Given the description of an element on the screen output the (x, y) to click on. 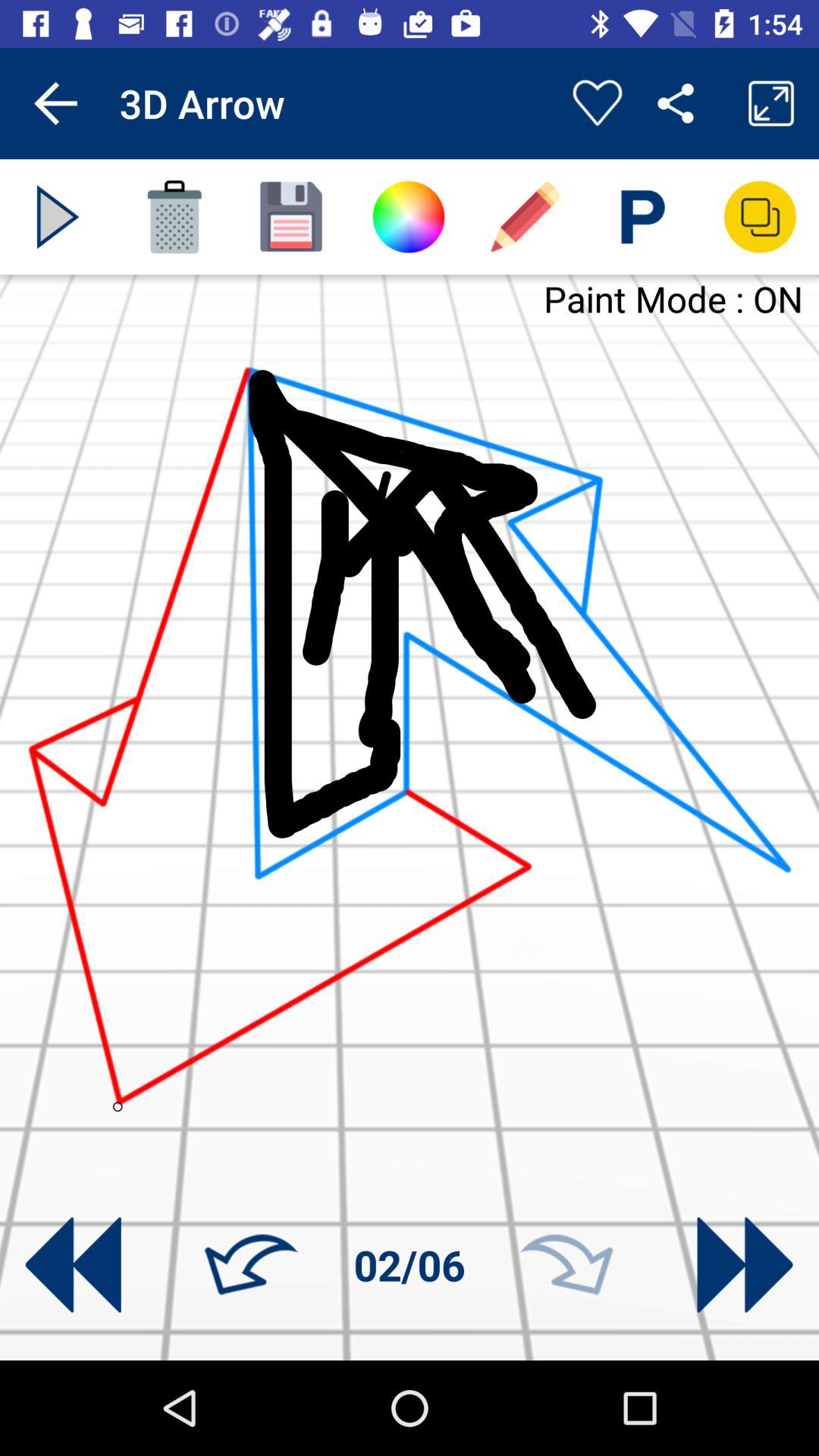
draw on image (525, 216)
